Given the description of an element on the screen output the (x, y) to click on. 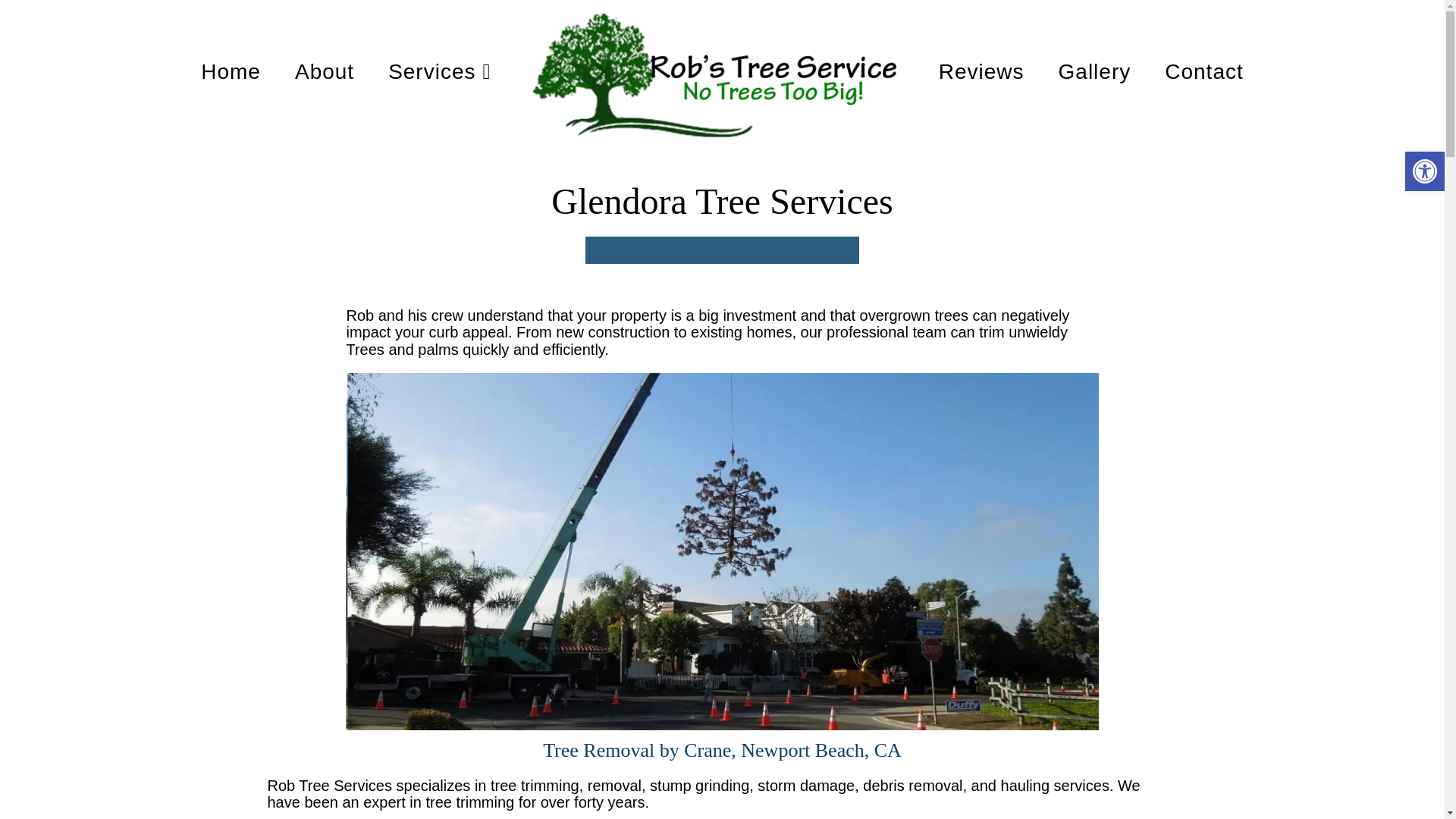
Services (440, 71)
Accessibility Tools (1424, 170)
